Given the description of an element on the screen output the (x, y) to click on. 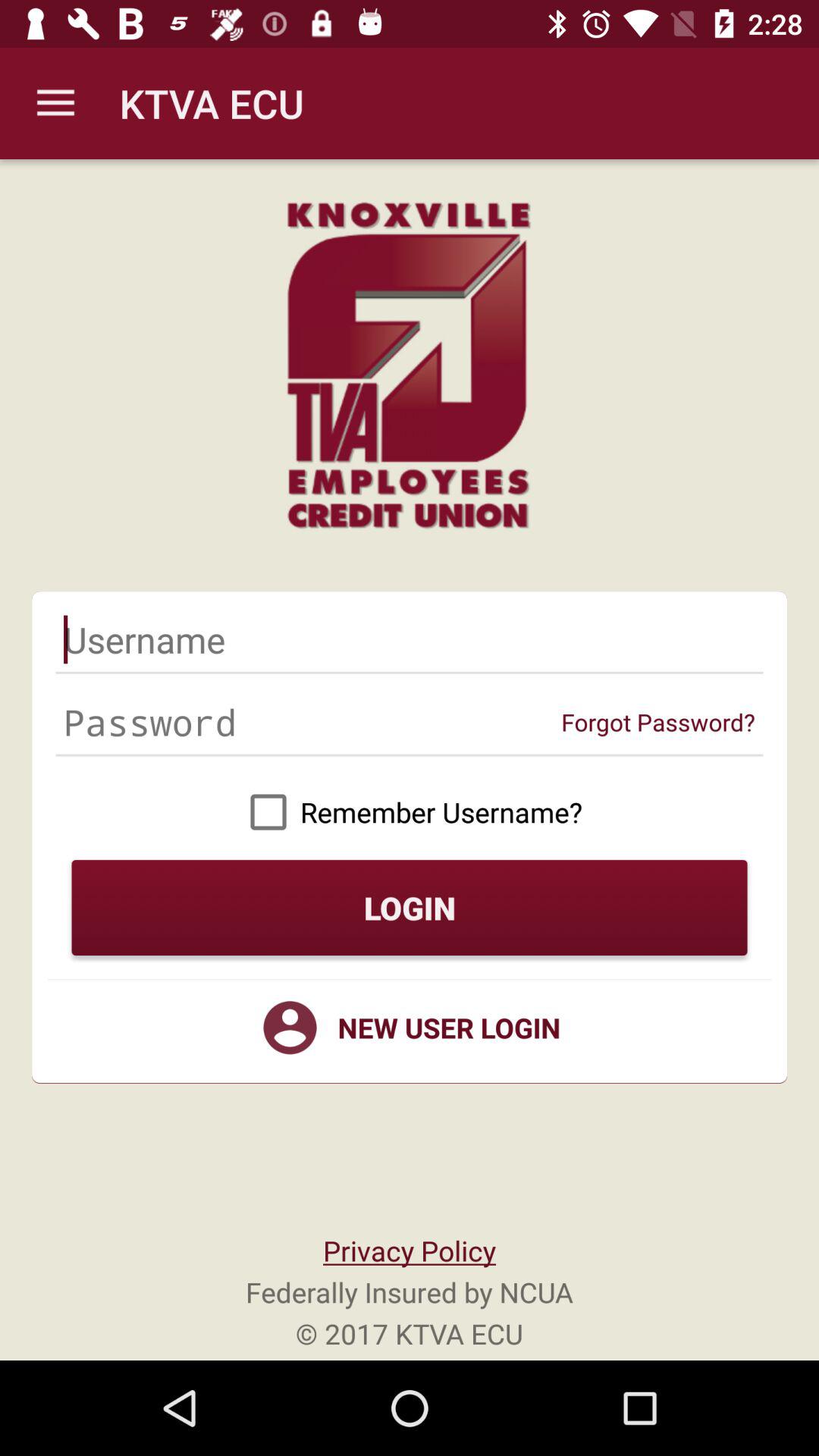
enter username (409, 639)
